Given the description of an element on the screen output the (x, y) to click on. 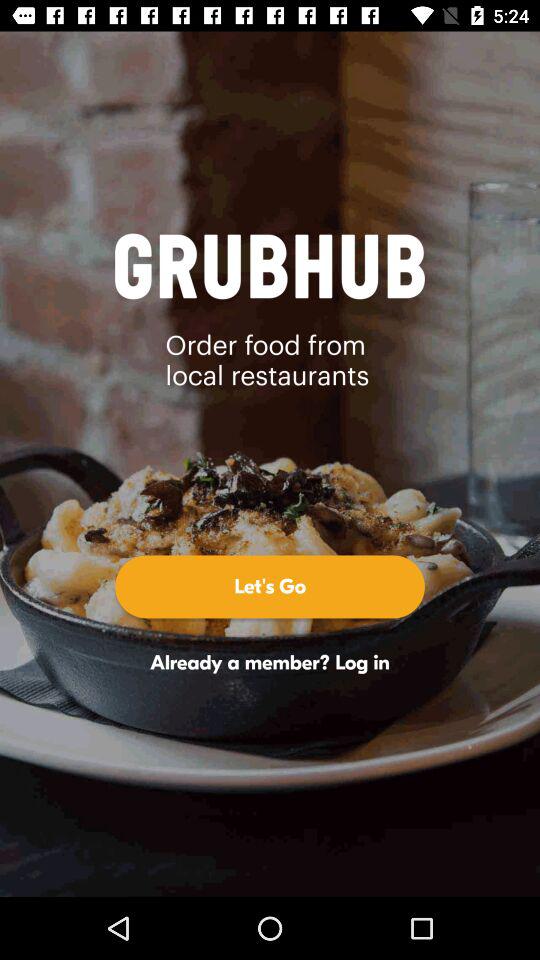
turn on the icon below let's go icon (269, 662)
